Given the description of an element on the screen output the (x, y) to click on. 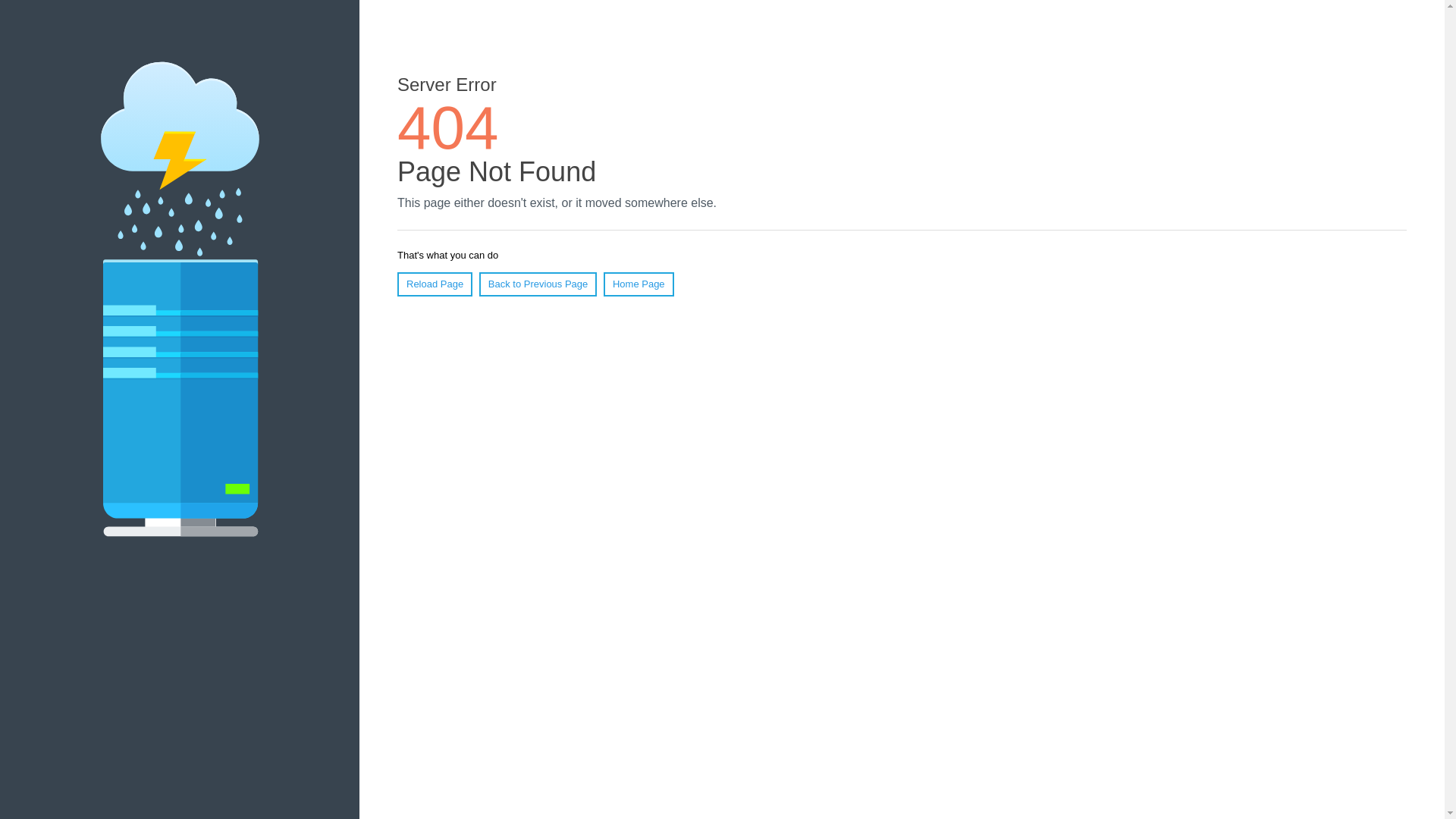
Back to Previous Page Element type: text (538, 284)
Reload Page Element type: text (434, 284)
Home Page Element type: text (638, 284)
